Given the description of an element on the screen output the (x, y) to click on. 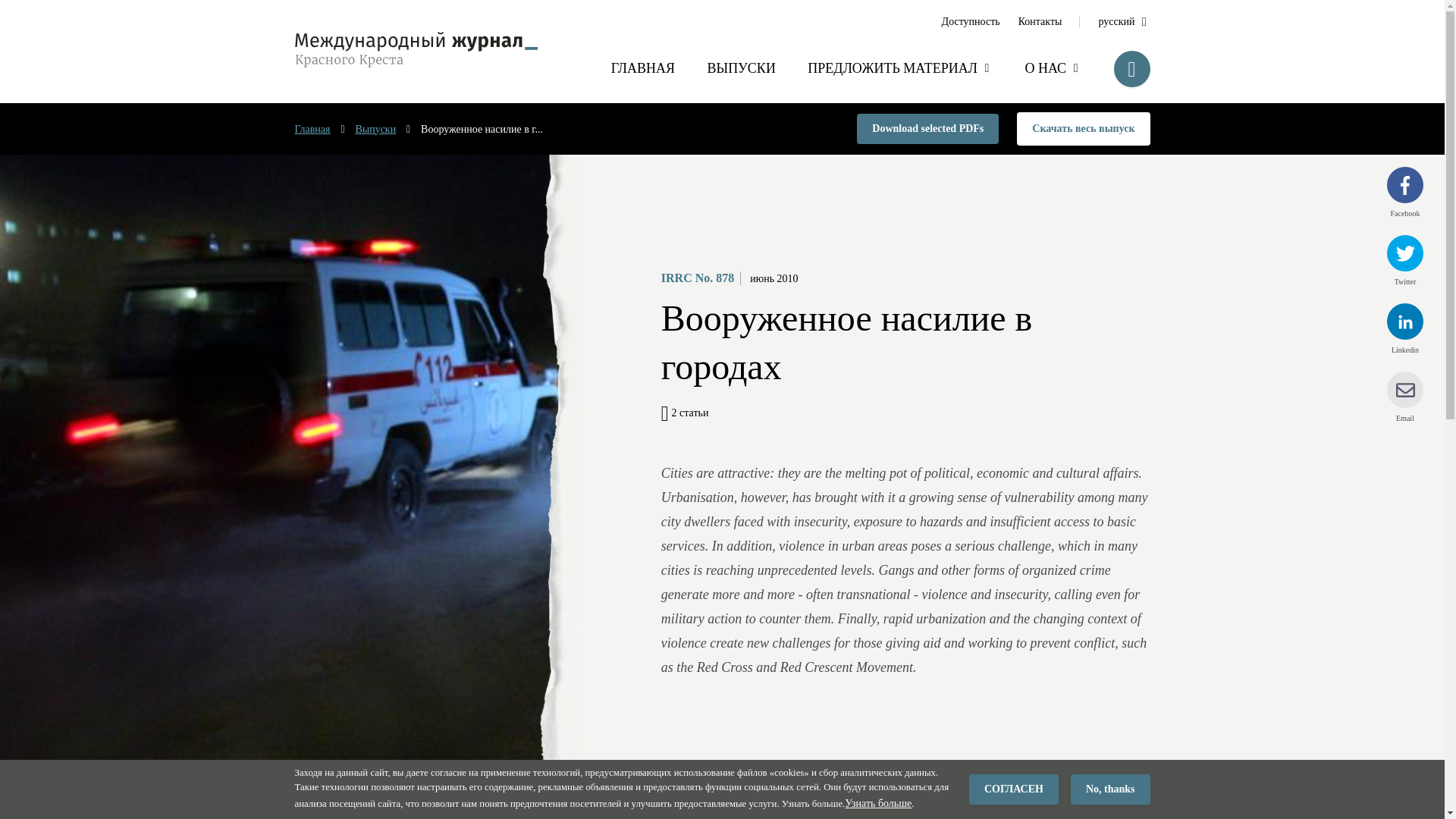
Open the search window (1131, 68)
INTERNATIONAL REVIEW OF THE RED CROSS (415, 49)
